Given the description of an element on the screen output the (x, y) to click on. 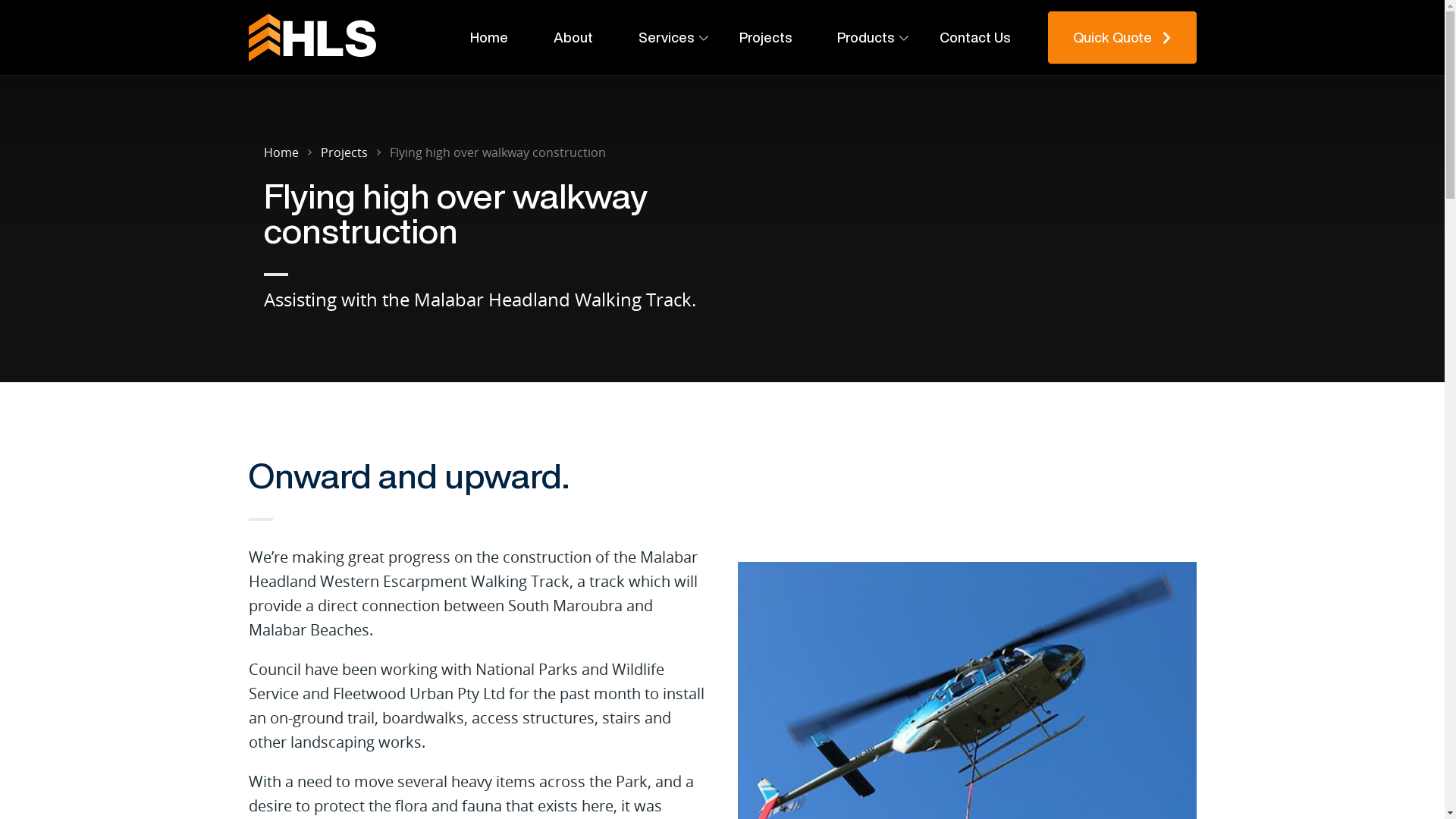
Contact Us Element type: text (974, 37)
Projects Element type: text (343, 152)
About Element type: text (573, 37)
Home Element type: text (280, 152)
Home Element type: text (489, 37)
Projects Element type: text (765, 37)
Quick Quote Element type: text (1121, 36)
Services Element type: text (666, 37)
Products Element type: text (865, 37)
